Given the description of an element on the screen output the (x, y) to click on. 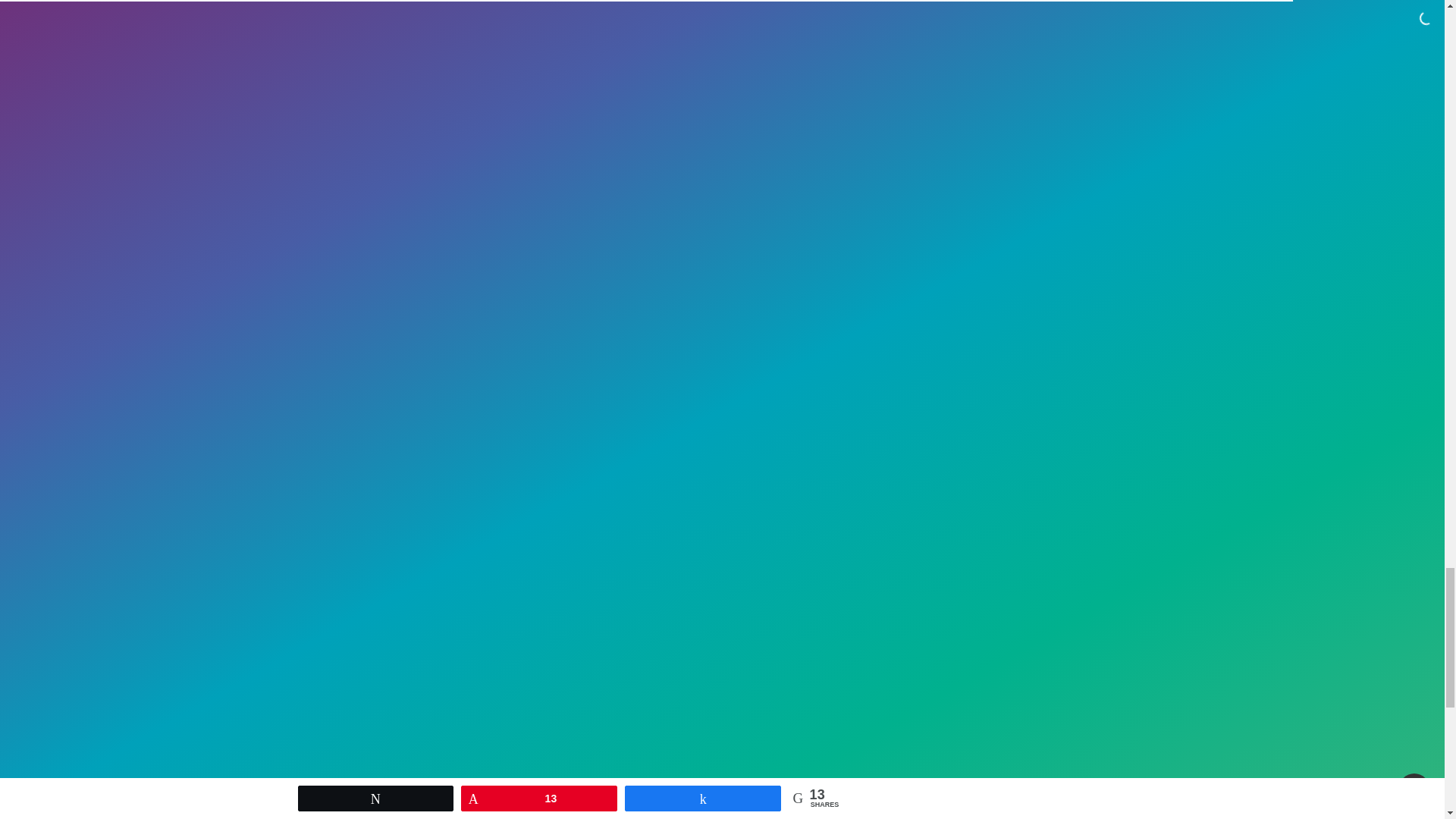
Post Comment (371, 781)
